Given the description of an element on the screen output the (x, y) to click on. 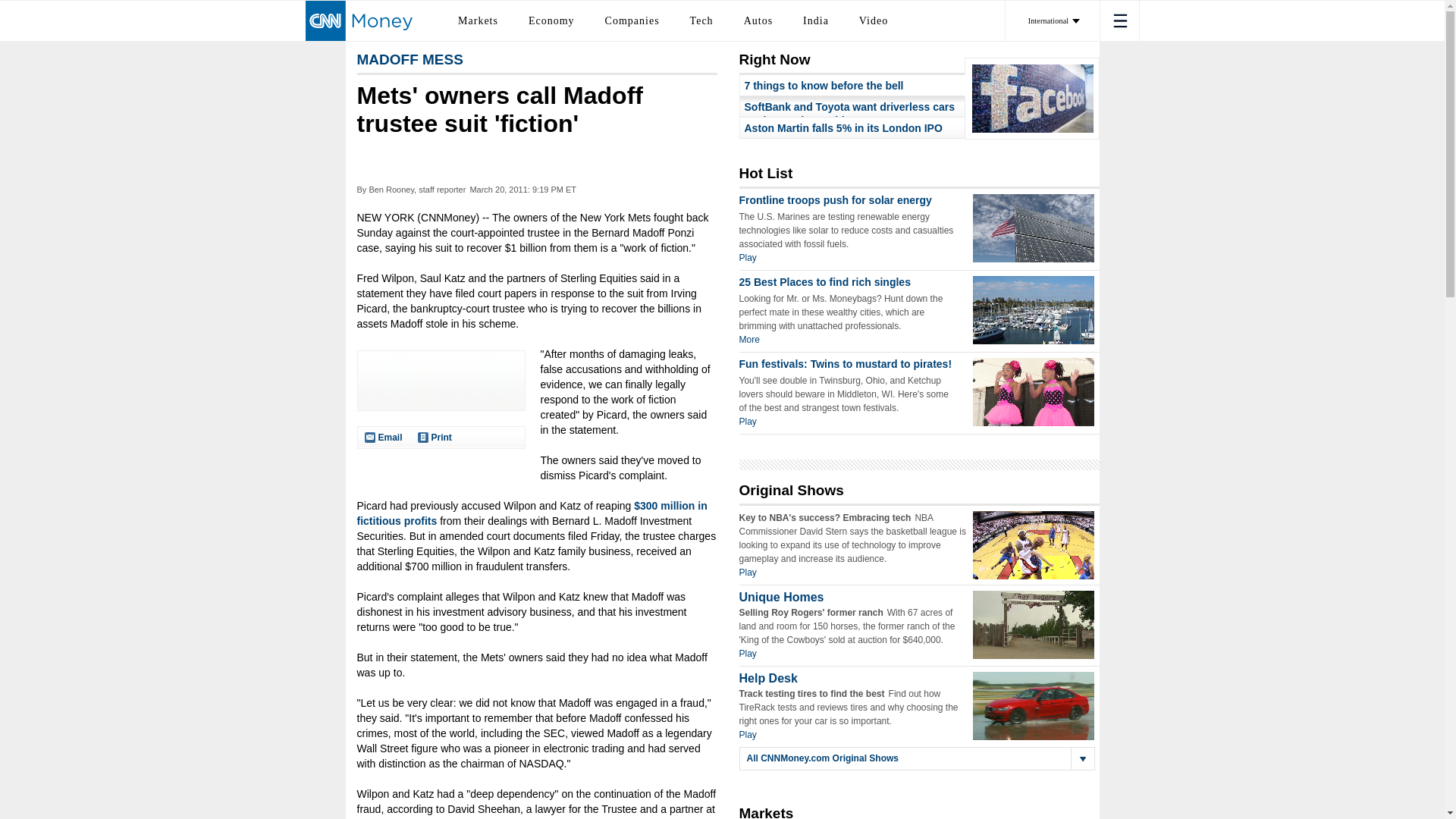
Video (873, 20)
Companies (632, 20)
Markets (477, 20)
India (815, 20)
Tech (701, 20)
Economy (551, 20)
Autos (758, 20)
